Given the description of an element on the screen output the (x, y) to click on. 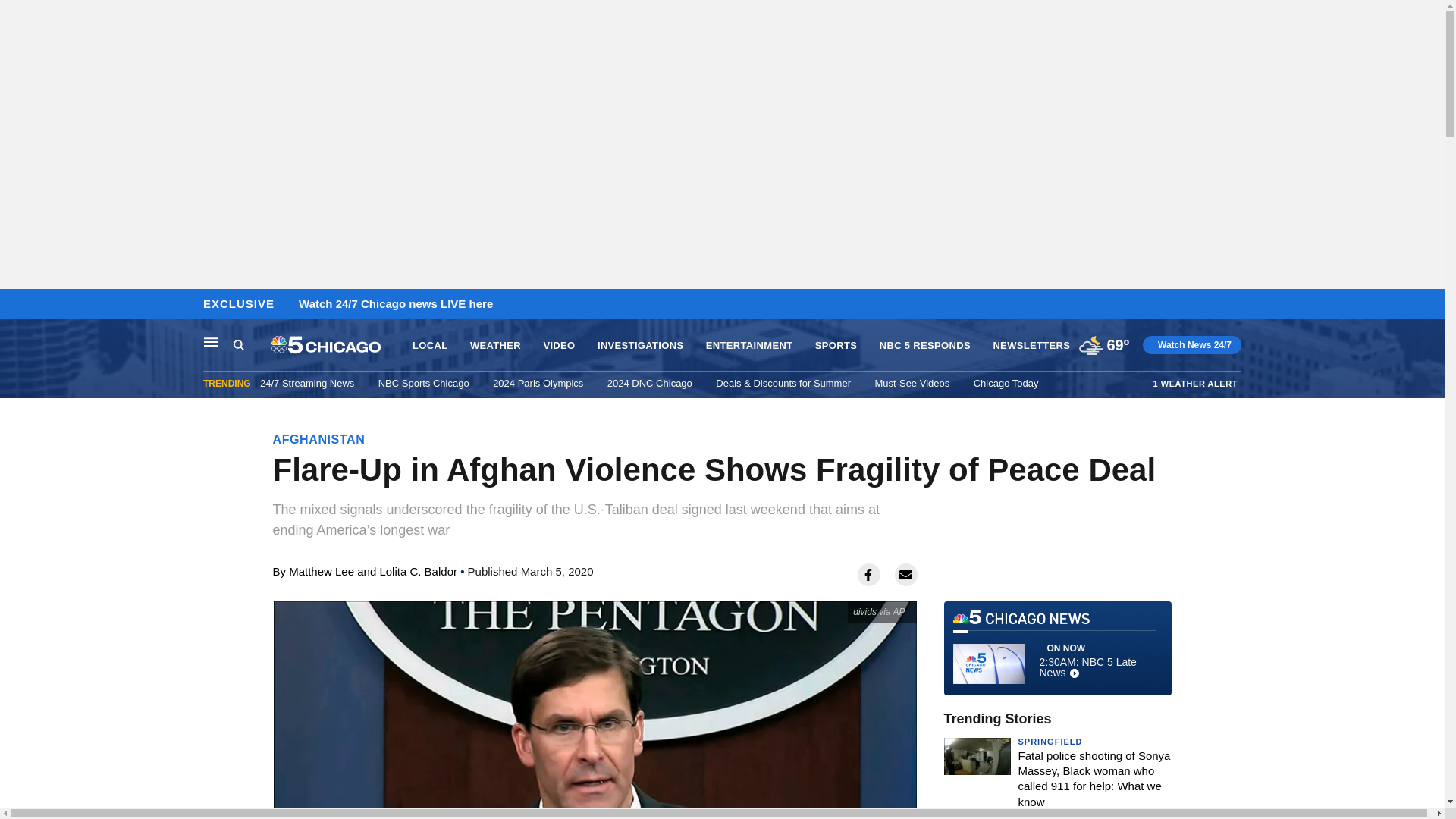
1 WEATHER ALERT (1195, 383)
SPORTS (836, 345)
Must-See Videos (912, 383)
Search (252, 345)
LOCAL (429, 345)
INVESTIGATIONS (639, 345)
Skip to content (16, 304)
NBC 5 RESPONDS (925, 345)
Chicago Today (1006, 383)
NEWSLETTERS (1031, 345)
2024 Paris Olympics (538, 383)
2024 DNC Chicago (650, 383)
Main Navigation (210, 341)
VIDEO (559, 345)
NBC Sports Chicago (423, 383)
